Given the description of an element on the screen output the (x, y) to click on. 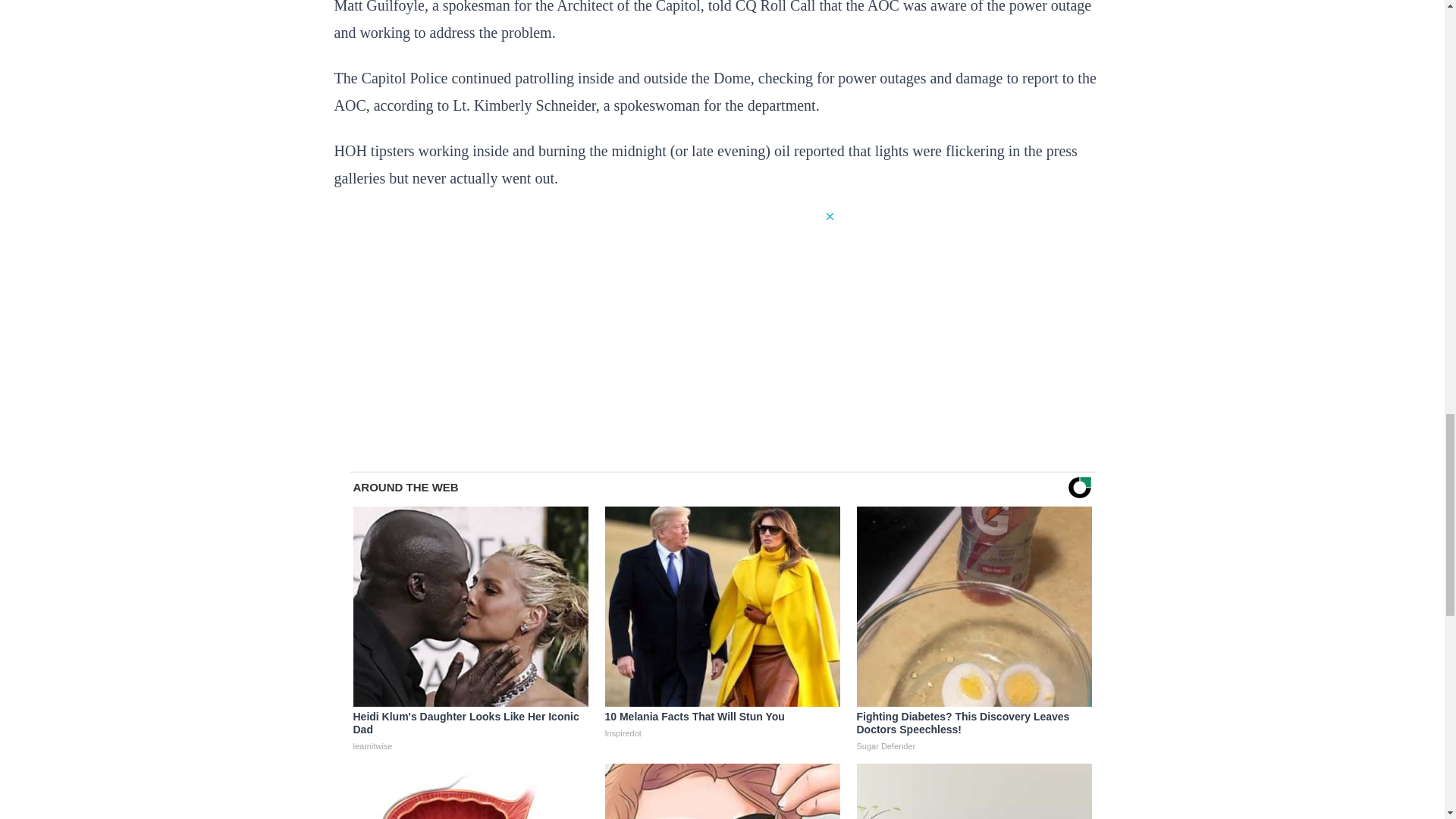
3rd party ad content (721, 304)
